Given the description of an element on the screen output the (x, y) to click on. 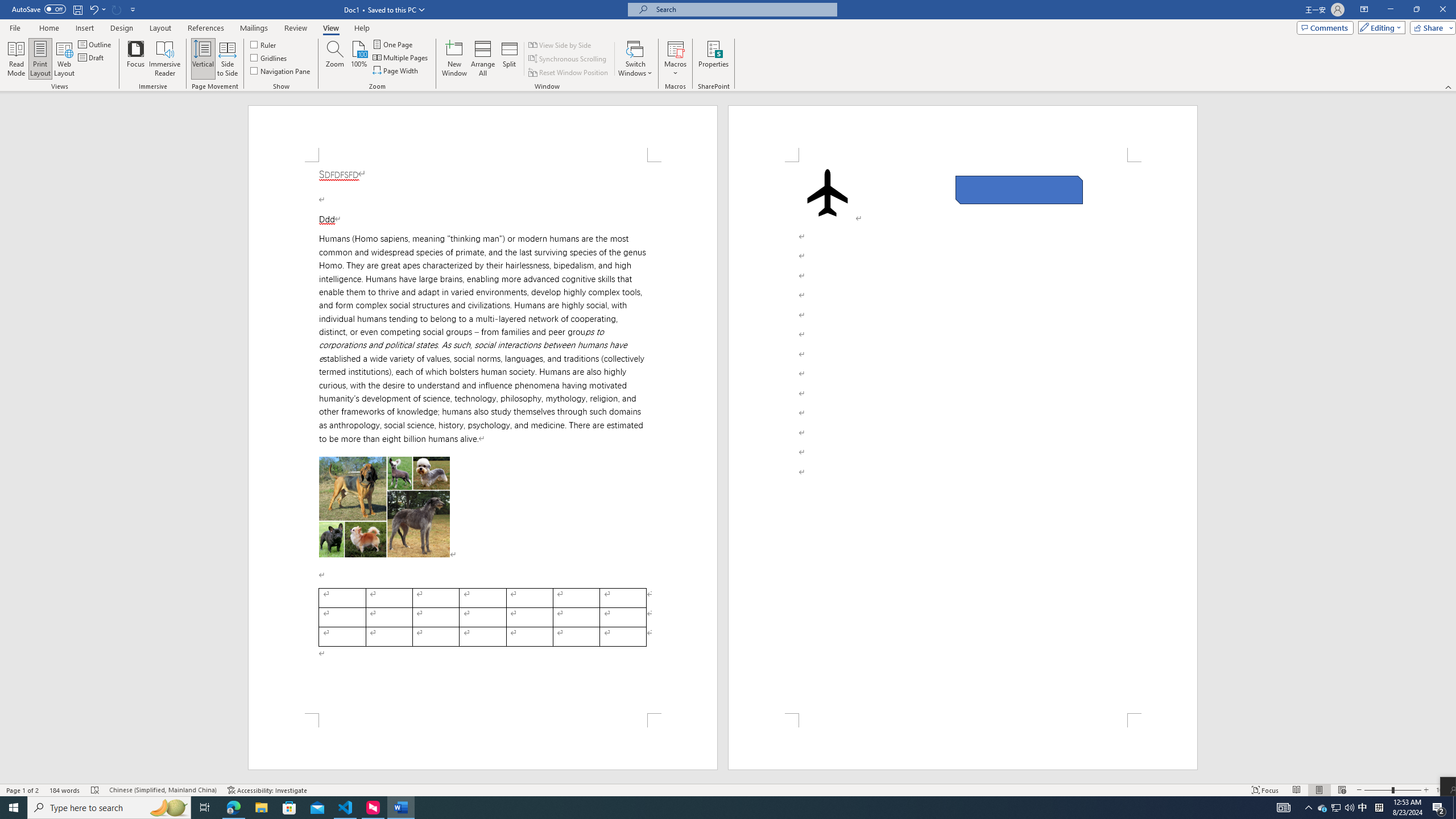
AutoSave (38, 9)
Mailings (253, 28)
100% (358, 58)
Home (48, 28)
Help (361, 28)
Zoom Out (1377, 790)
Microsoft search (742, 9)
Review (295, 28)
Can't Repeat (117, 9)
Zoom In (1426, 790)
Spelling and Grammar Check Errors (94, 790)
Accessibility Checker Accessibility: Investigate (266, 790)
Page Width (396, 69)
Restore Down (1416, 9)
